Given the description of an element on the screen output the (x, y) to click on. 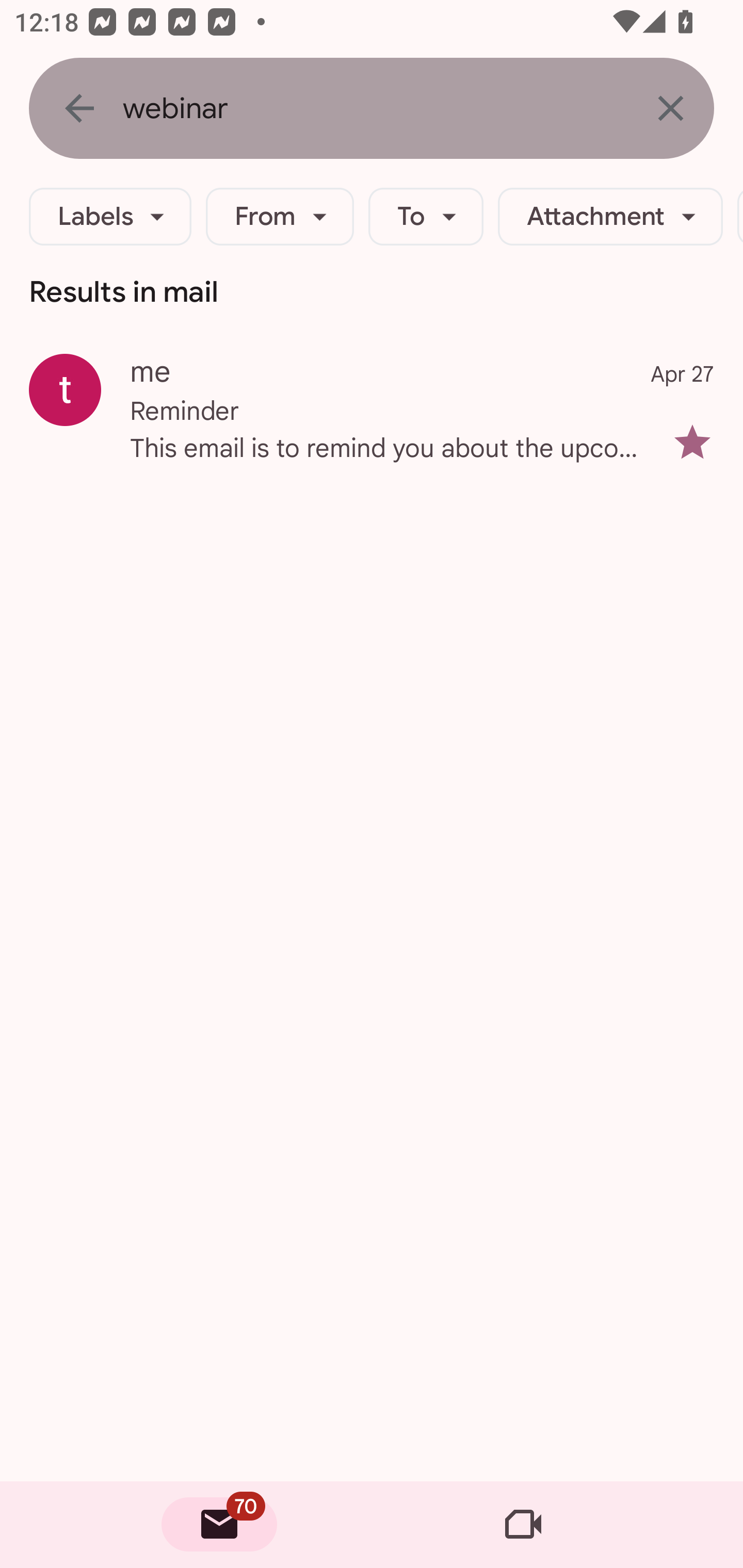
webinar Navigate up webinar Clear search text (371, 108)
Navigate up (79, 108)
Clear search text (670, 108)
Labels (109, 217)
From (279, 217)
To (425, 217)
Attachment (609, 217)
Meet (523, 1524)
